Given the description of an element on the screen output the (x, y) to click on. 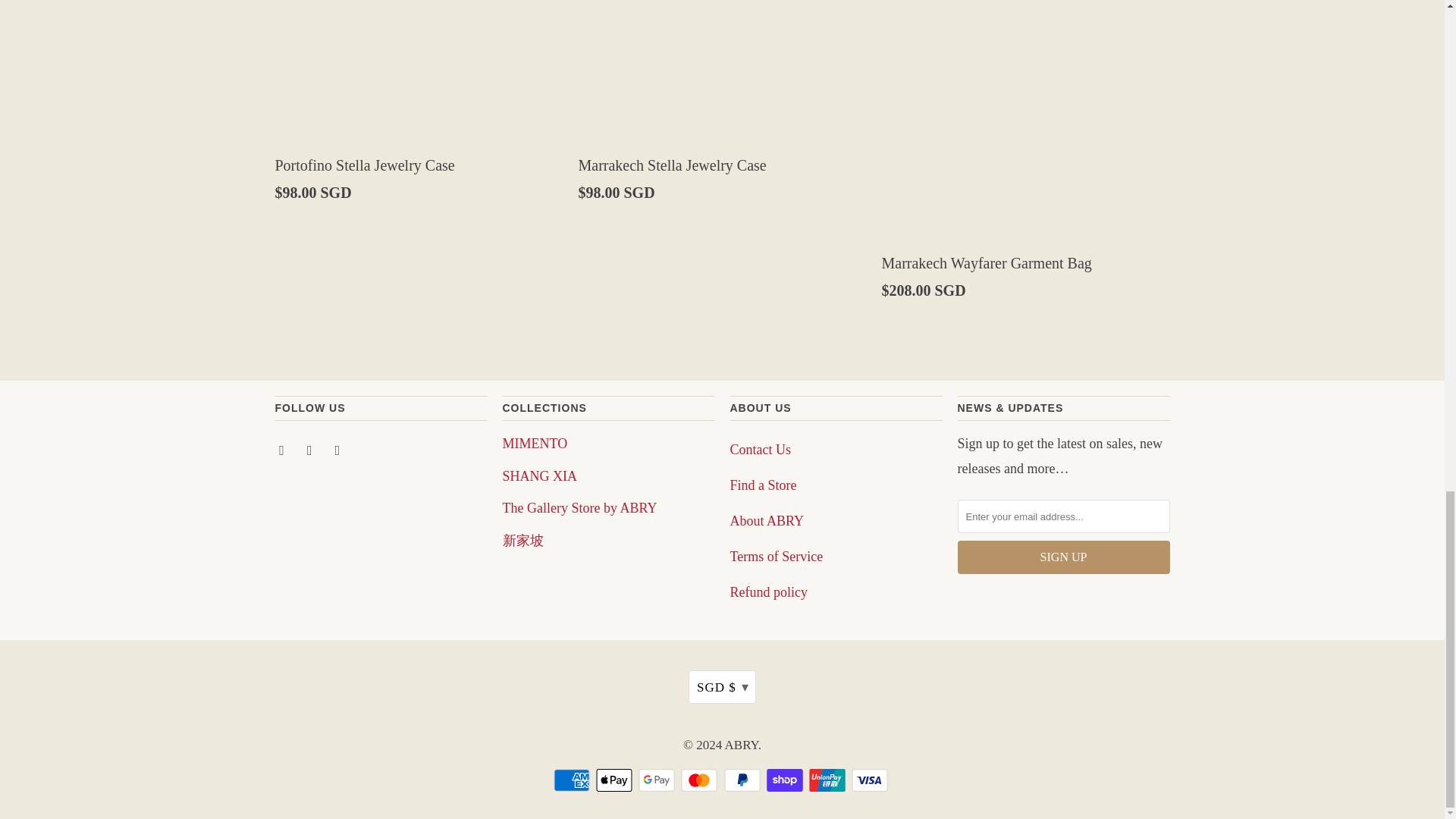
Union Pay (828, 780)
PayPal (742, 780)
Visa (871, 780)
Sign Up (1062, 557)
Shop Pay (786, 780)
Mastercard (700, 780)
Apple Pay (614, 780)
Google Pay (658, 780)
American Express (572, 780)
